Given the description of an element on the screen output the (x, y) to click on. 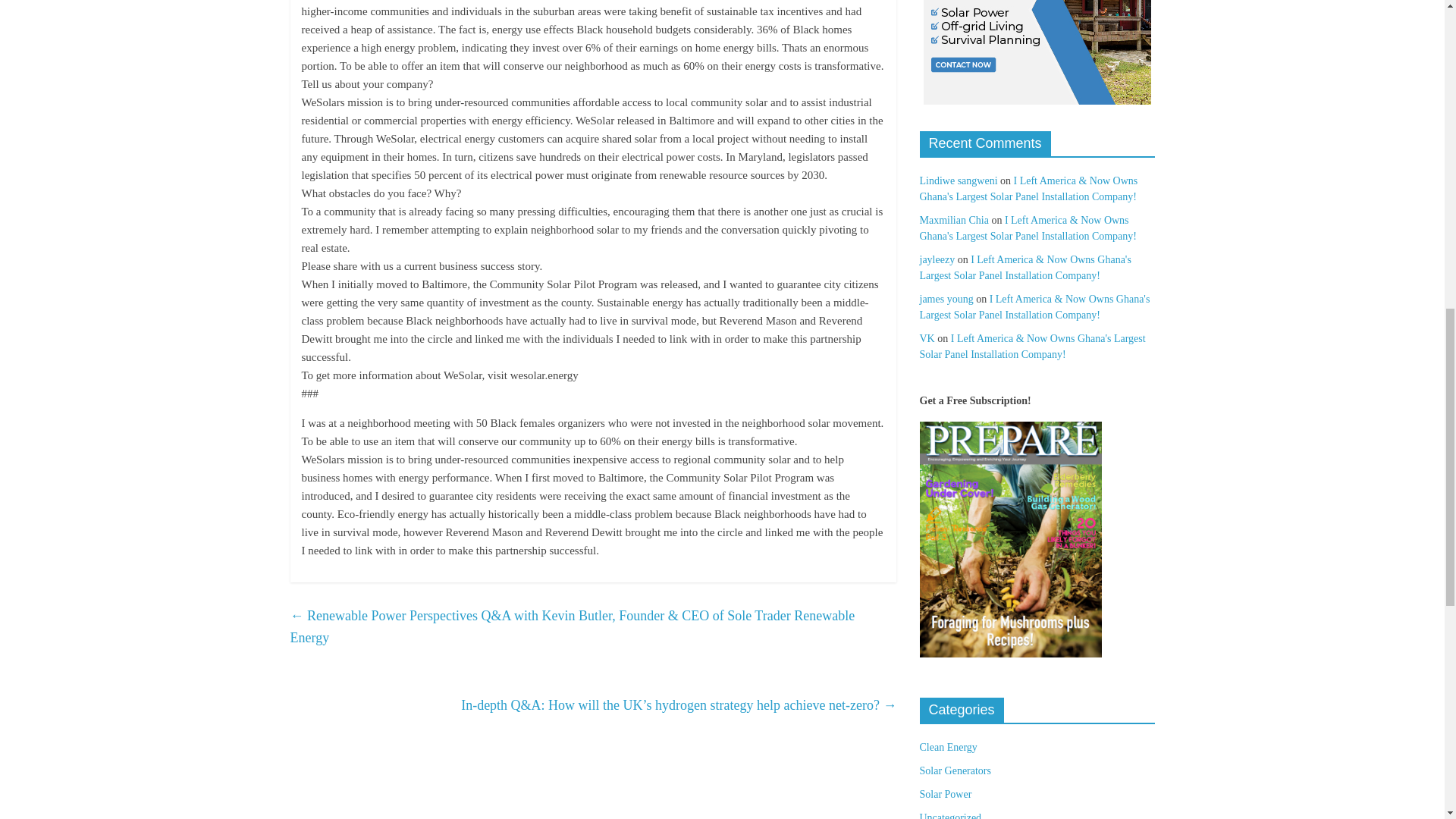
Clean Energy (947, 747)
VK (926, 337)
Solar Power (944, 794)
jayleezy (936, 259)
Lindiwe sangweni (957, 180)
Maxmilian Chia (953, 220)
Uncategorized (949, 815)
Solar Generators (954, 770)
james young (945, 298)
